Given the description of an element on the screen output the (x, y) to click on. 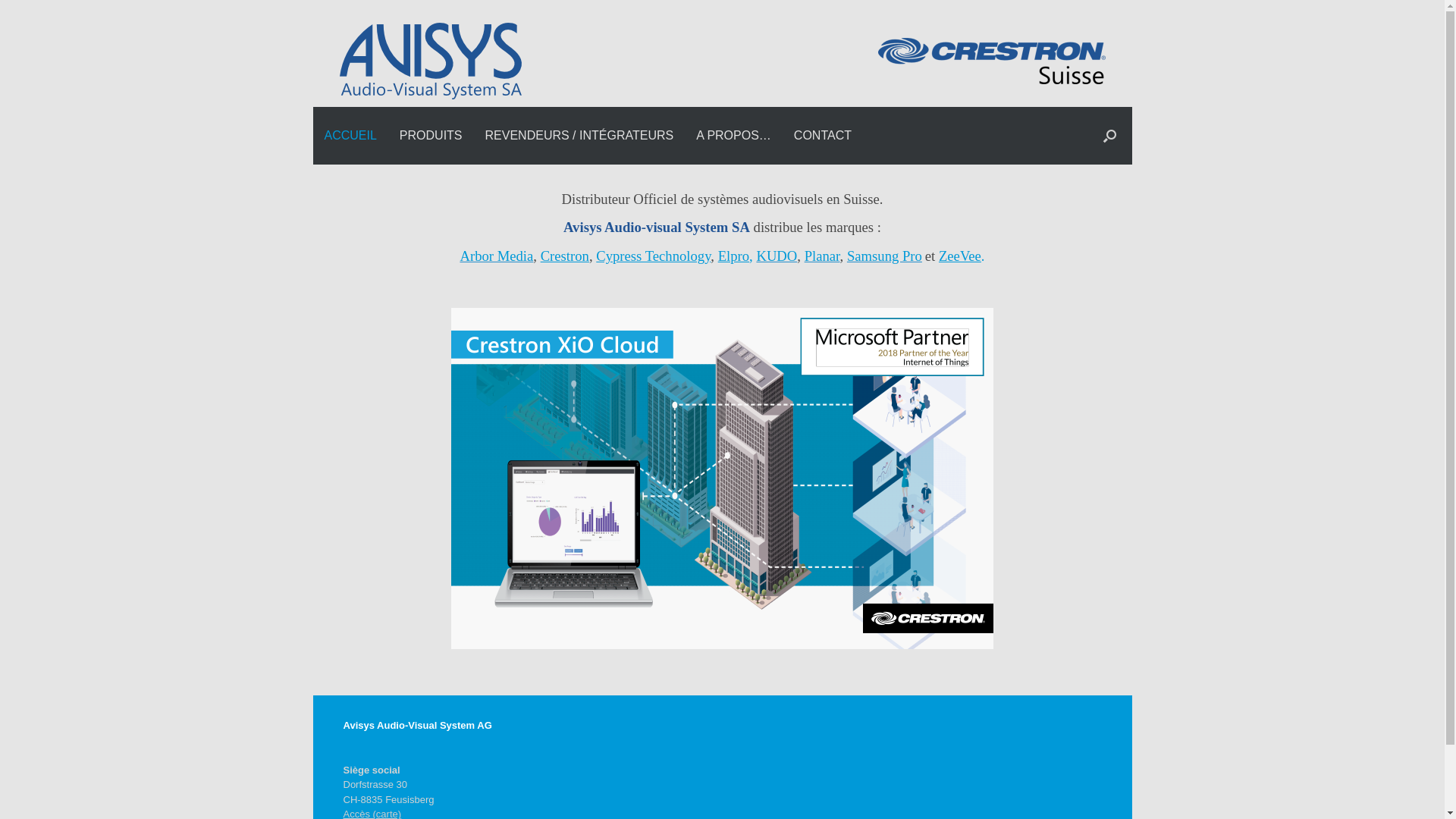
CONTACT Element type: text (822, 135)
PRODUITS Element type: text (430, 135)
Cypress Technology Element type: text (653, 255)
Crestron Element type: text (564, 255)
Elpro Element type: text (733, 255)
KUDO Element type: text (776, 255)
Arbor Media Element type: text (496, 255)
Planar Element type: text (822, 255)
Crestron - XIO Cloud Element type: hover (722, 478)
Samsung Pro Element type: text (884, 255)
Crestron Suisse Element type: hover (991, 60)
Avisys Element type: hover (430, 60)
ZeeVee Element type: text (959, 255)
ACCUEIL Element type: text (349, 135)
